Given the description of an element on the screen output the (x, y) to click on. 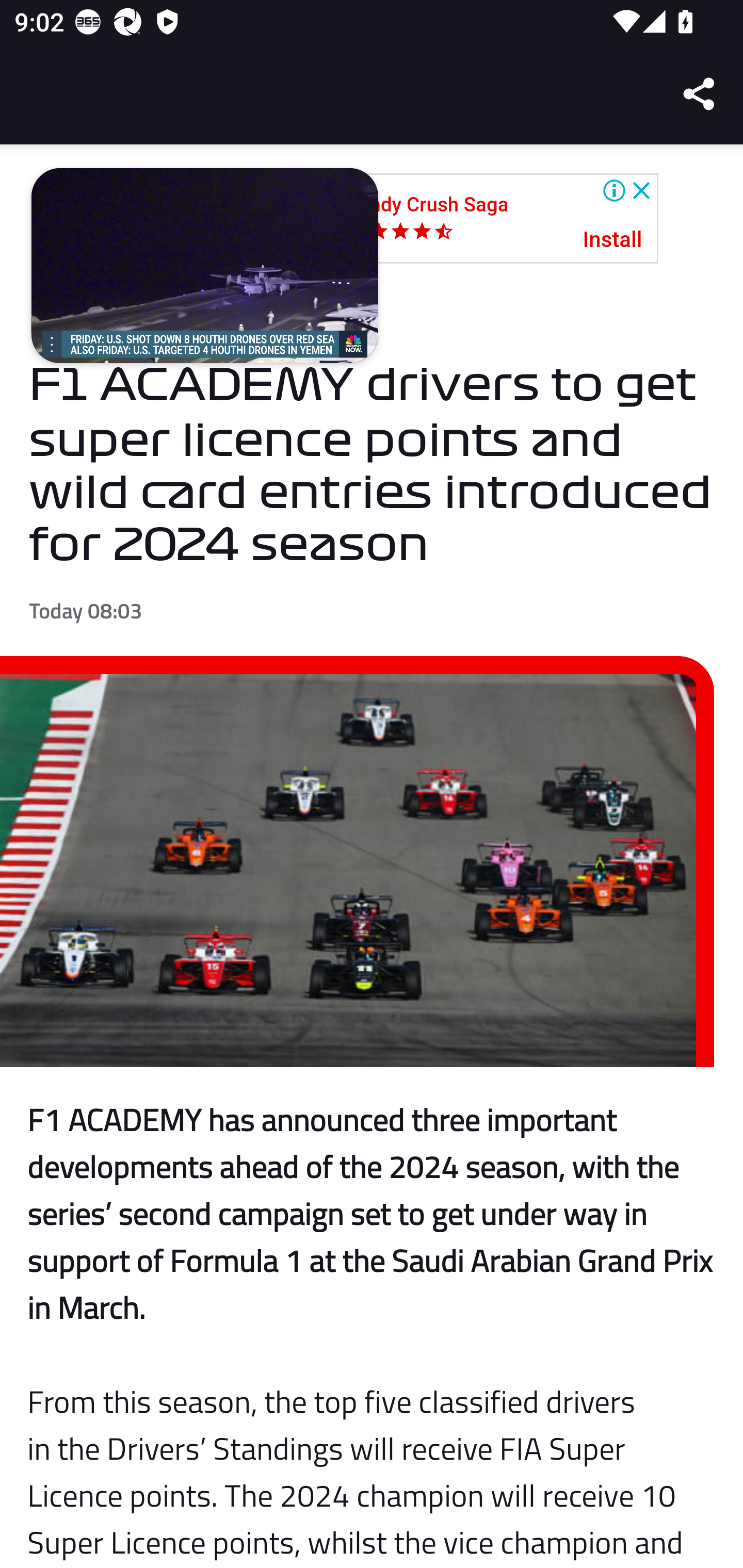
Share (699, 93)
Install (613, 240)
